Given the description of an element on the screen output the (x, y) to click on. 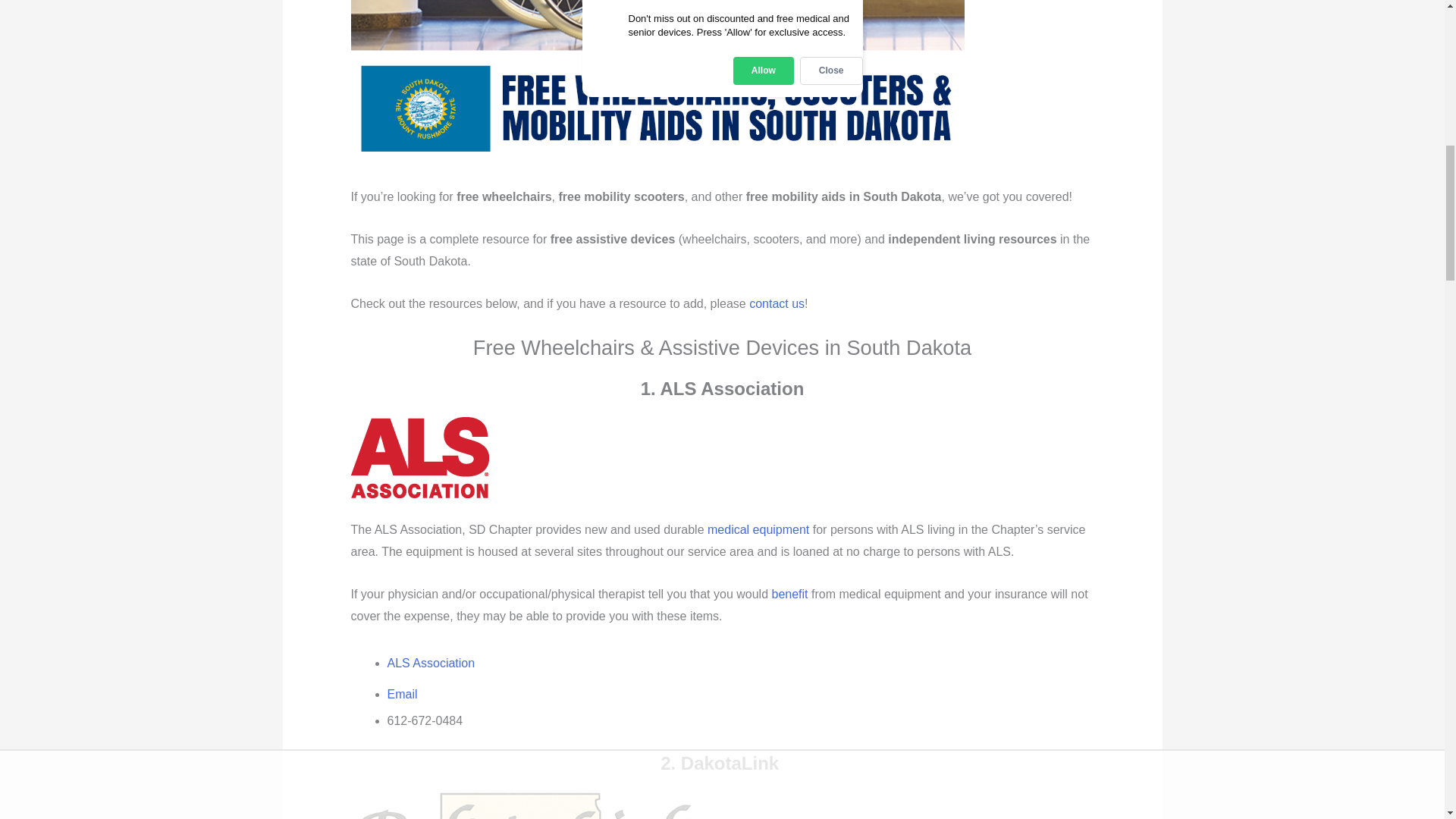
DakotaLink (525, 805)
